Given the description of an element on the screen output the (x, y) to click on. 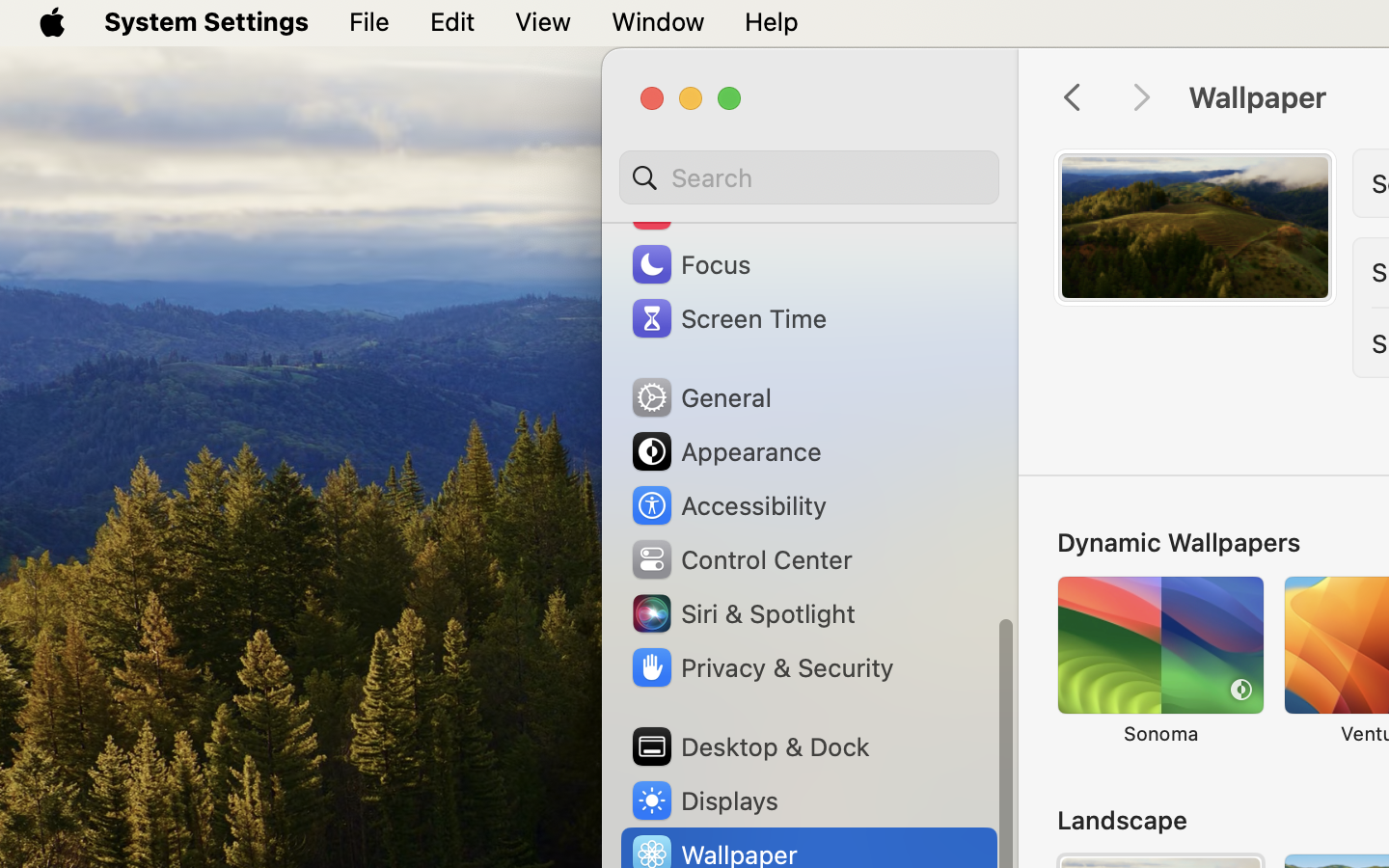
Control Center Element type: AXStaticText (740, 559)
Privacy & Security Element type: AXStaticText (760, 667)
Accessibility Element type: AXStaticText (727, 505)
Dynamic Wallpapers Element type: AXStaticText (1178, 541)
Desktop & Dock Element type: AXStaticText (749, 746)
